Given the description of an element on the screen output the (x, y) to click on. 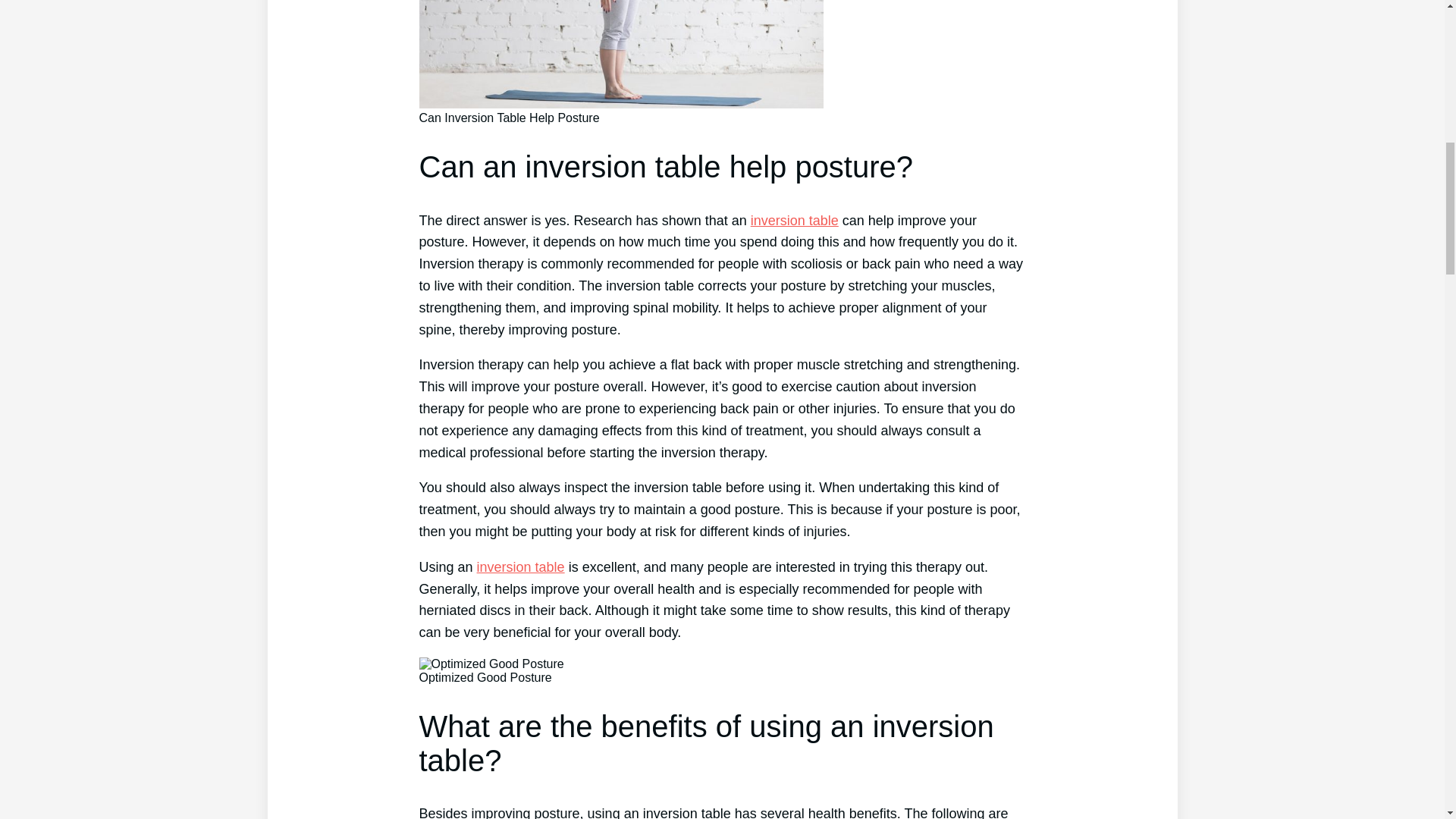
inversion table (520, 566)
inversion table (794, 220)
Does an Inversion Table Work? (794, 220)
